Given the description of an element on the screen output the (x, y) to click on. 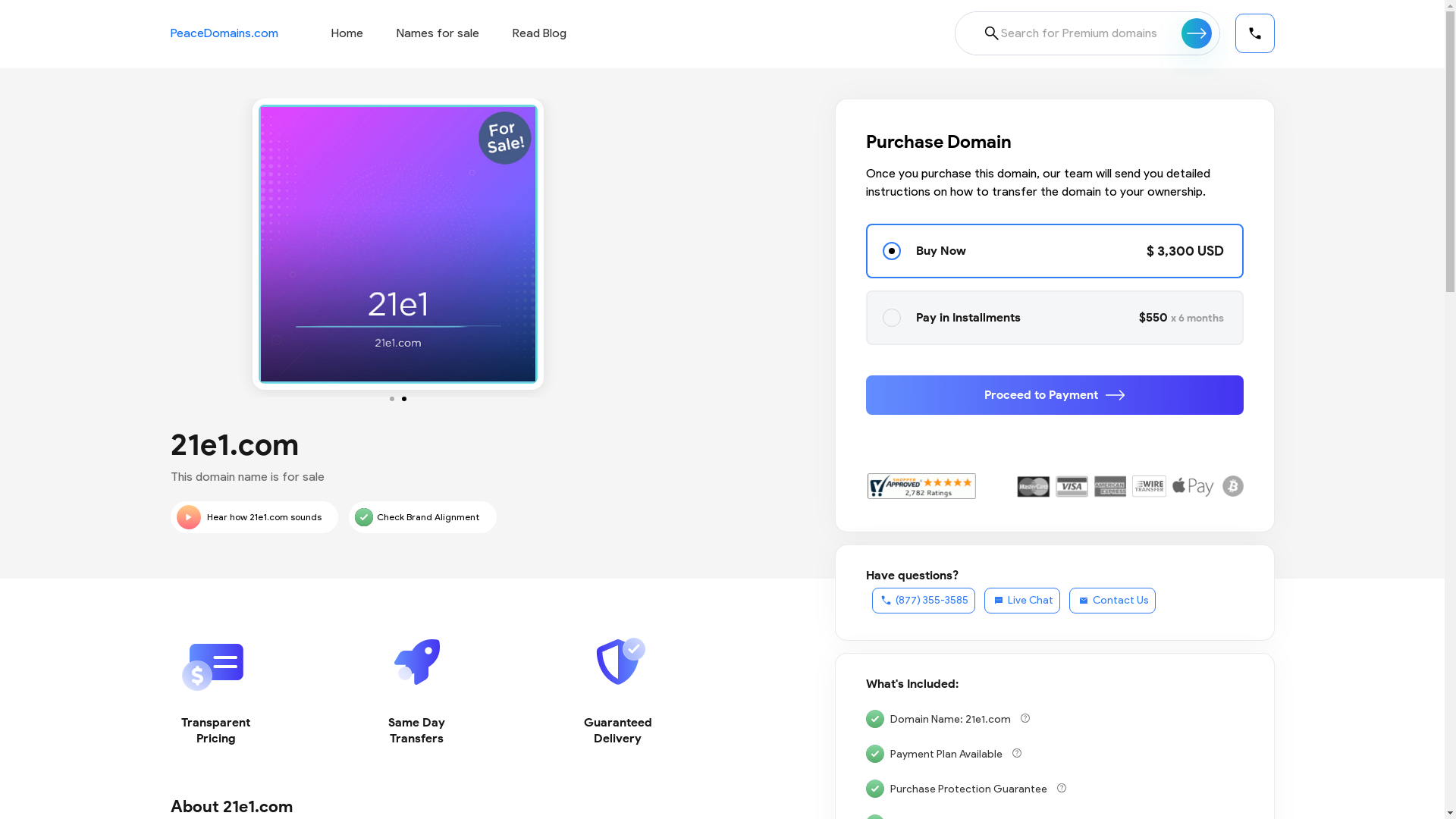
PeaceDomains.com Element type: text (223, 33)
Names for sale Element type: text (436, 33)
Hear how 21e1.com sounds Element type: text (253, 517)
Read Blog Element type: text (539, 33)
Live Chat Element type: text (1022, 600)
Proceed to Payment Element type: text (1054, 394)
Check Brand Alignment Element type: text (422, 517)
Buy Now
$ 3,300 USD Element type: text (1054, 250)
(877) 355-3585 Element type: text (923, 600)
Home Element type: text (346, 33)
Contact Us Element type: text (1112, 600)
